Given the description of an element on the screen output the (x, y) to click on. 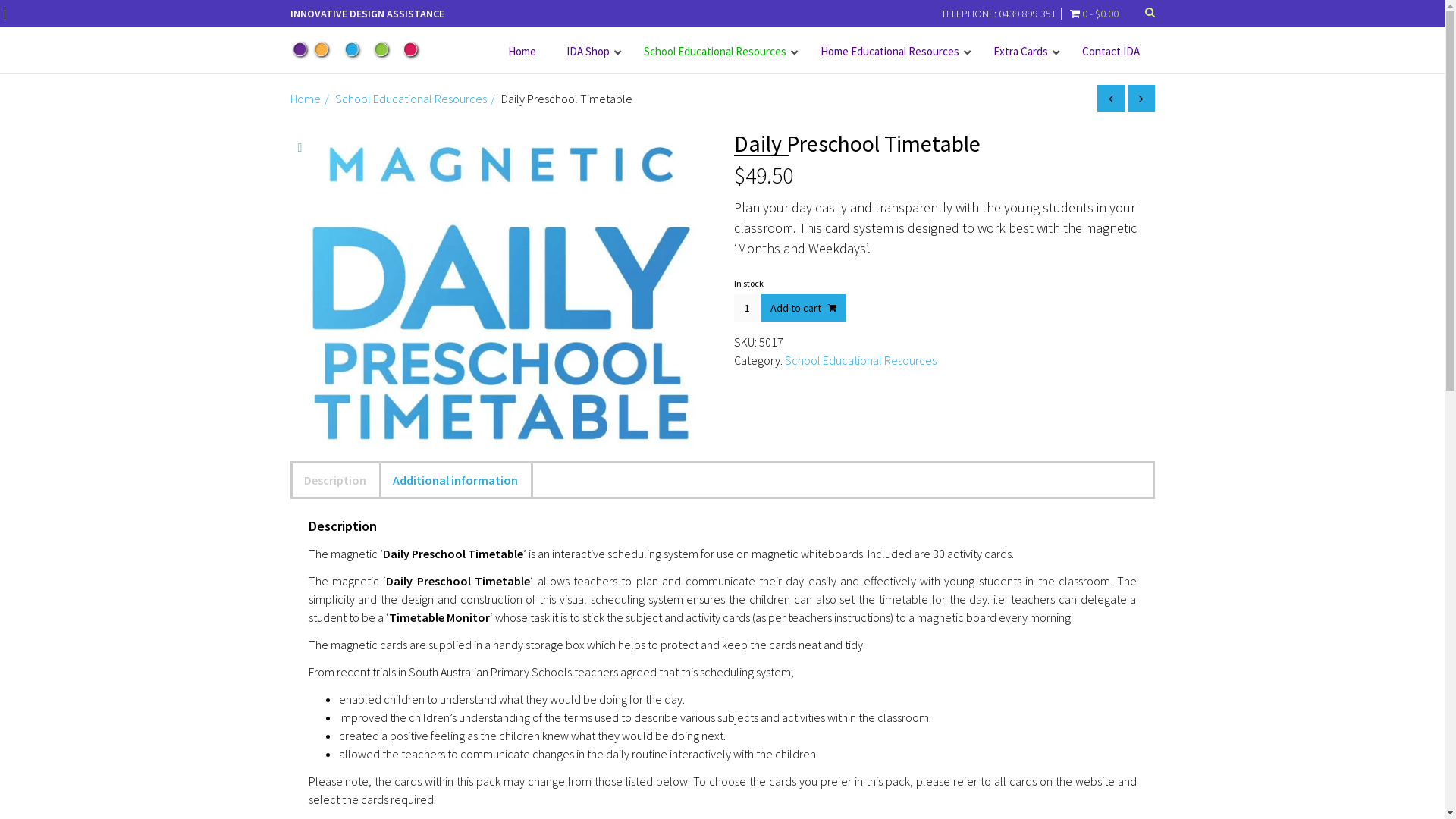
School Educational Resources Element type: text (715, 51)
Home Element type: text (304, 98)
magnetic-daily-preschool-timetable-01 Element type: hover (499, 287)
Home Element type: text (521, 51)
Add to cart Element type: text (803, 307)
School Educational Resources Element type: text (410, 98)
Additional information Element type: text (454, 479)
Contact IDA Element type: text (1110, 51)
Home Educational Resources Element type: text (891, 51)
Extra Cards Element type: text (1022, 51)
0 - $0.00 Element type: text (1090, 13)
Description Element type: text (334, 479)
School Educational Resources Element type: text (859, 359)
IDA Shop Element type: text (588, 51)
